Given the description of an element on the screen output the (x, y) to click on. 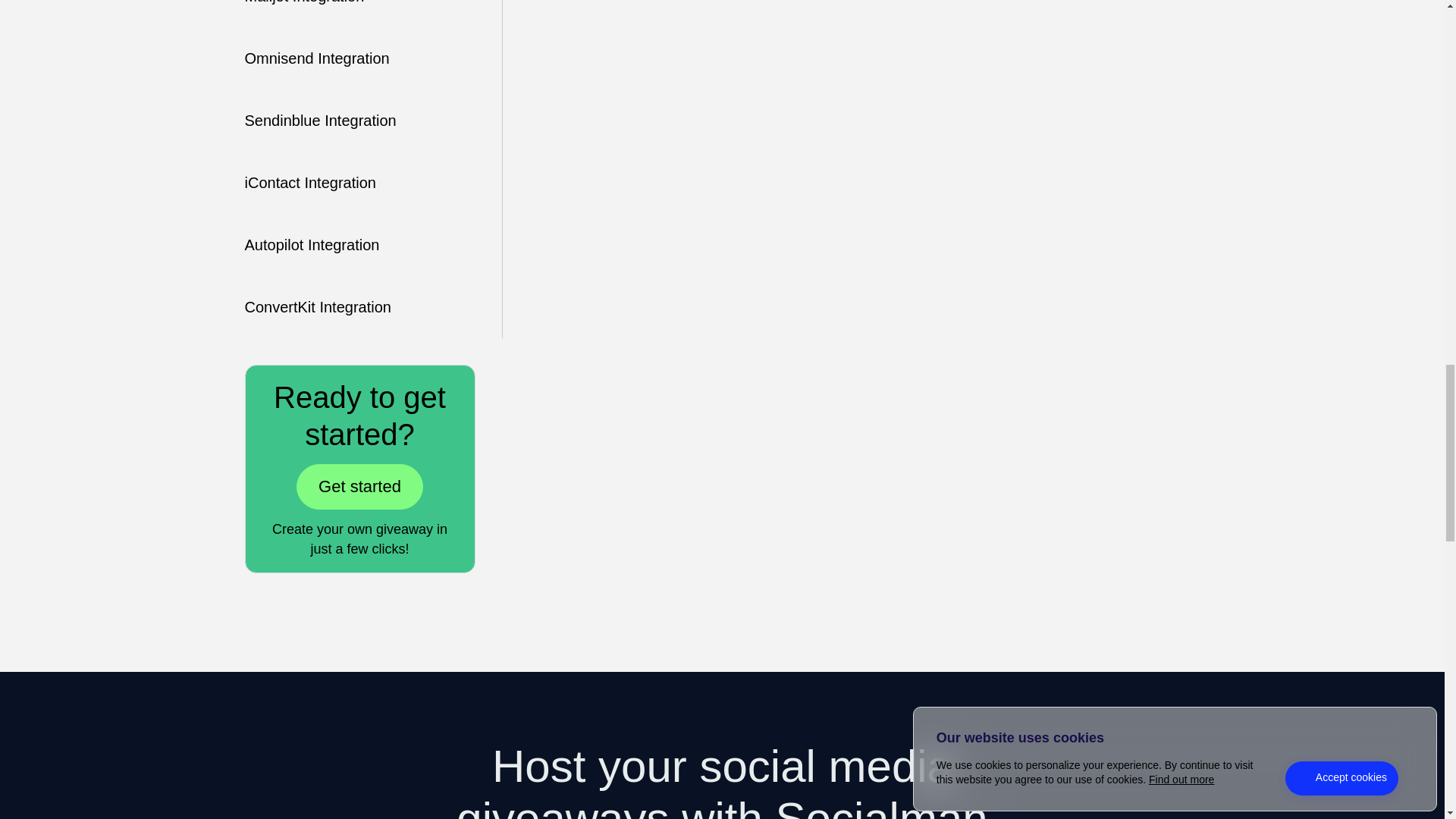
Get started (360, 486)
Autopilot Integration (311, 244)
iContact Integration (309, 182)
Omnisend Integration (316, 57)
Sendinblue Integration (320, 120)
Mailjet Integration (304, 2)
ConvertKit Integration (317, 306)
